Given the description of an element on the screen output the (x, y) to click on. 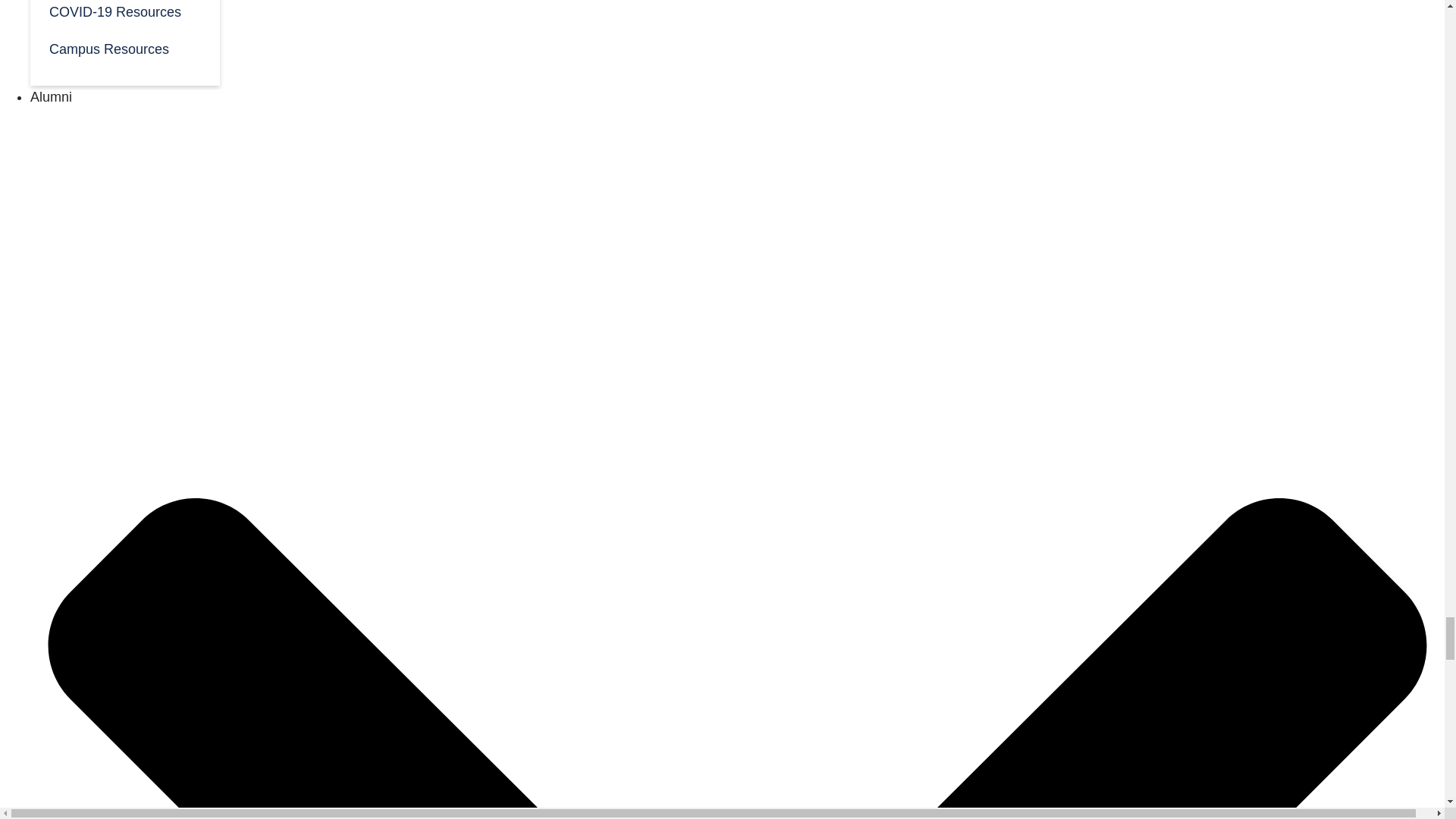
Campus Resources (125, 47)
COVID-19 Resources (125, 14)
Alumni (50, 96)
